Given the description of an element on the screen output the (x, y) to click on. 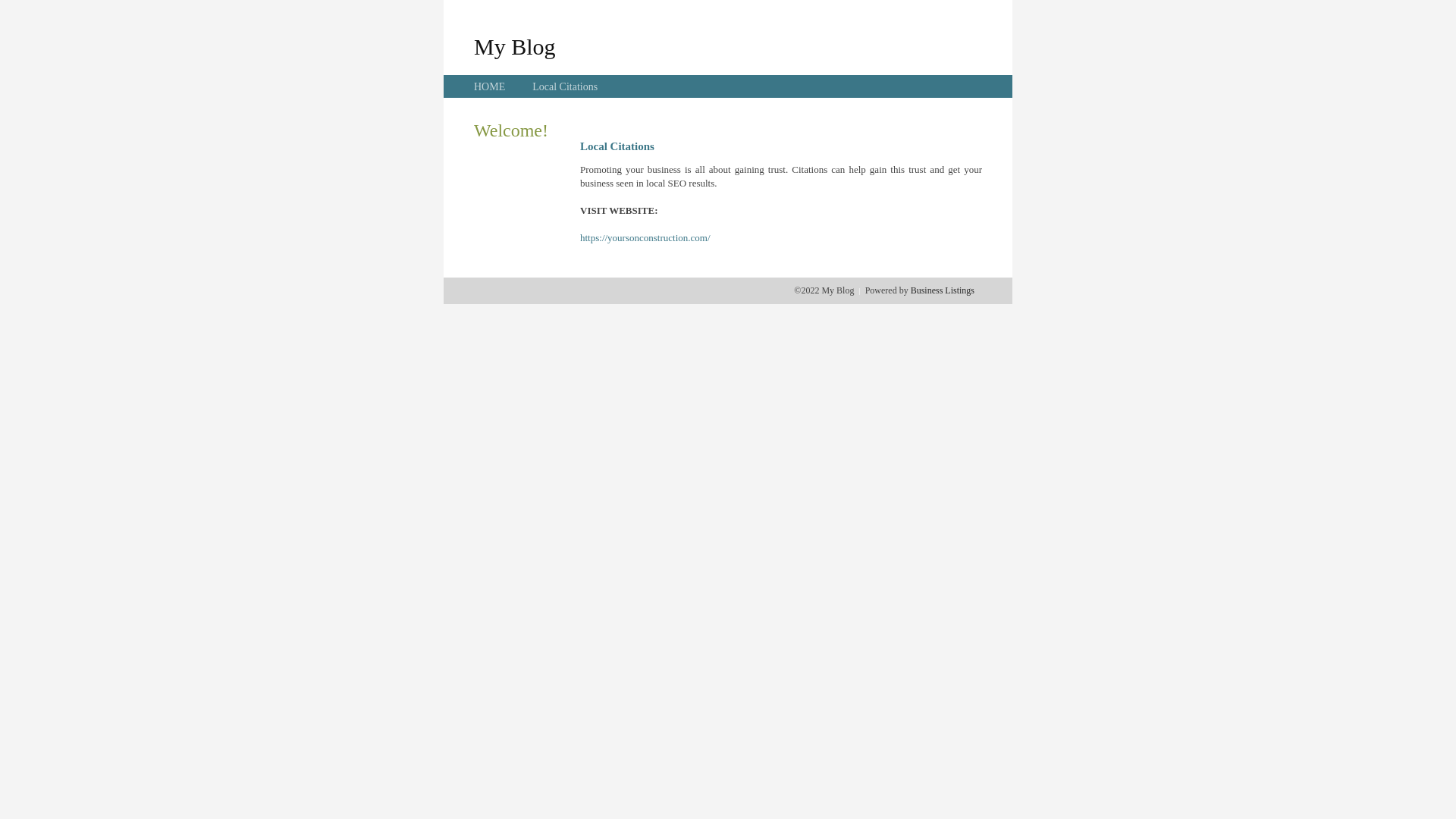
Local Citations Element type: text (564, 86)
My Blog Element type: text (514, 46)
Business Listings Element type: text (942, 290)
https://yoursonconstruction.com/ Element type: text (645, 237)
HOME Element type: text (489, 86)
